Given the description of an element on the screen output the (x, y) to click on. 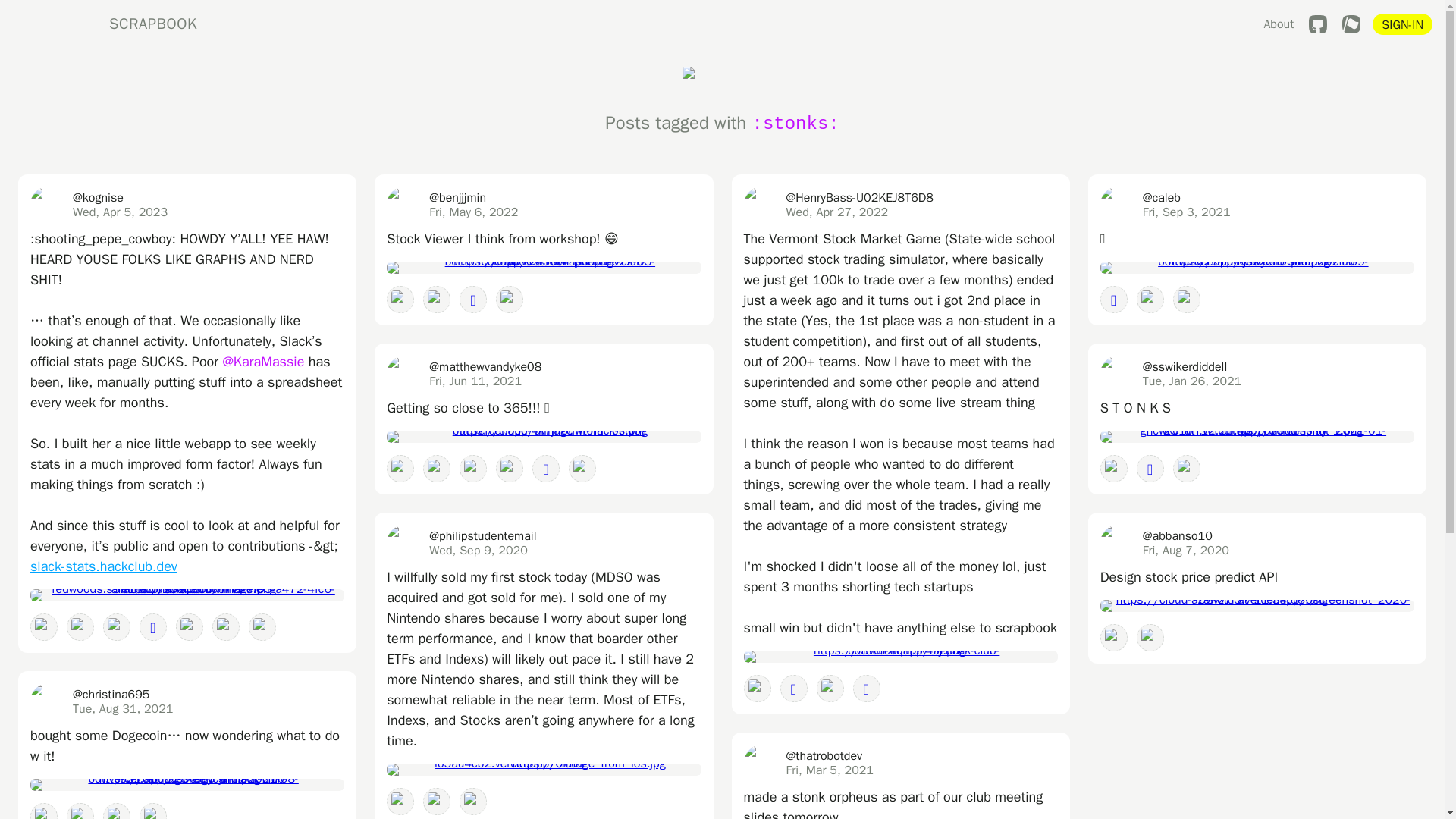
Stonks (80, 811)
slack-stats.hackclub.dev (103, 565)
Laptopparrot (44, 626)
Star (153, 626)
GitHub (1318, 24)
Summer 21 (44, 811)
Cooll Dino (226, 626)
Beachball (189, 626)
Stonks (117, 626)
Slack (262, 626)
